Given the description of an element on the screen output the (x, y) to click on. 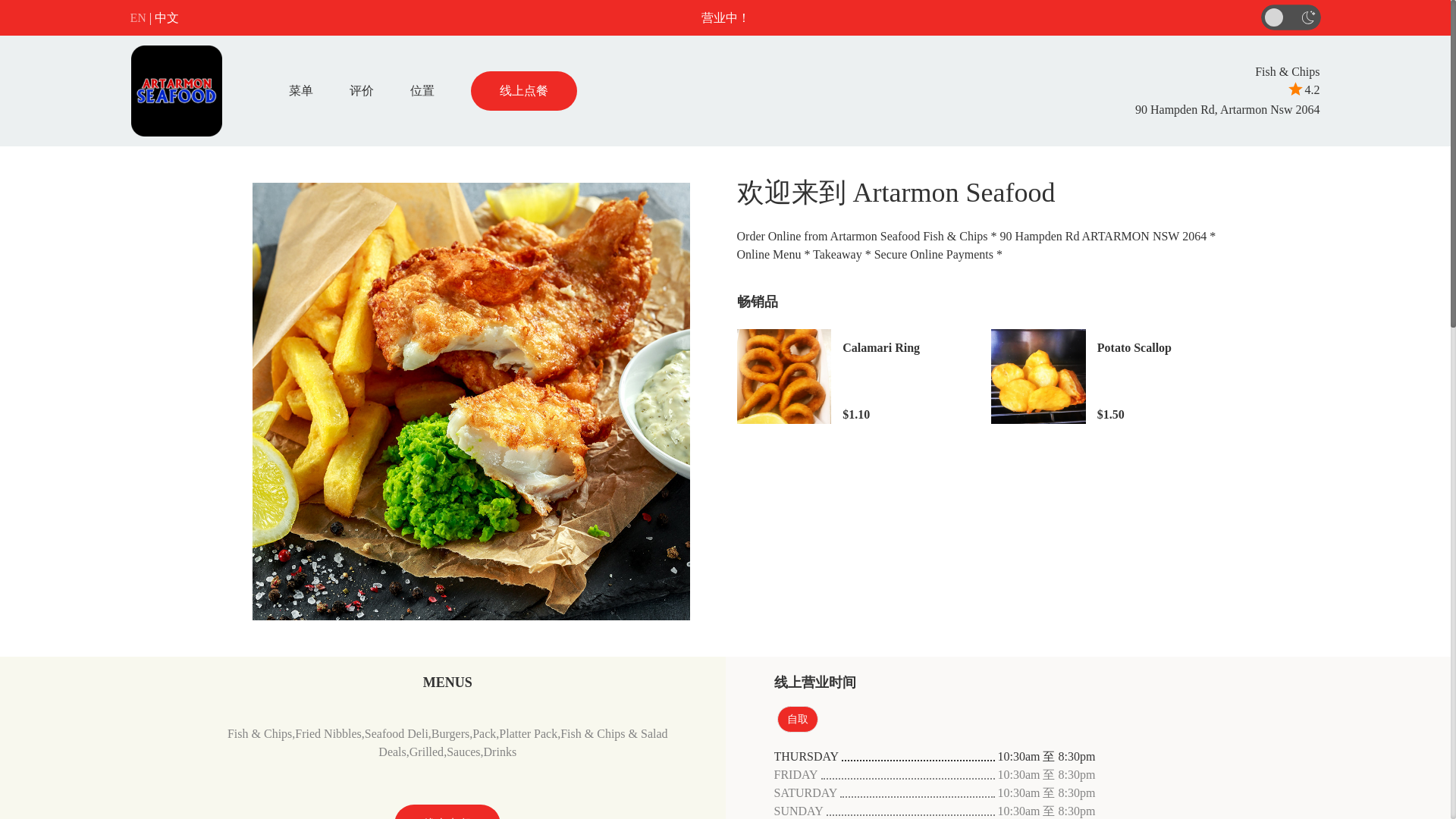
Platter Pack (528, 733)
EN (139, 16)
Burgers (449, 733)
Grilled (426, 751)
Pack (483, 733)
Sauces (463, 751)
Seafood Deli (396, 733)
Fried Nibbles (328, 733)
Drinks (499, 751)
4.2 (1303, 89)
